Given the description of an element on the screen output the (x, y) to click on. 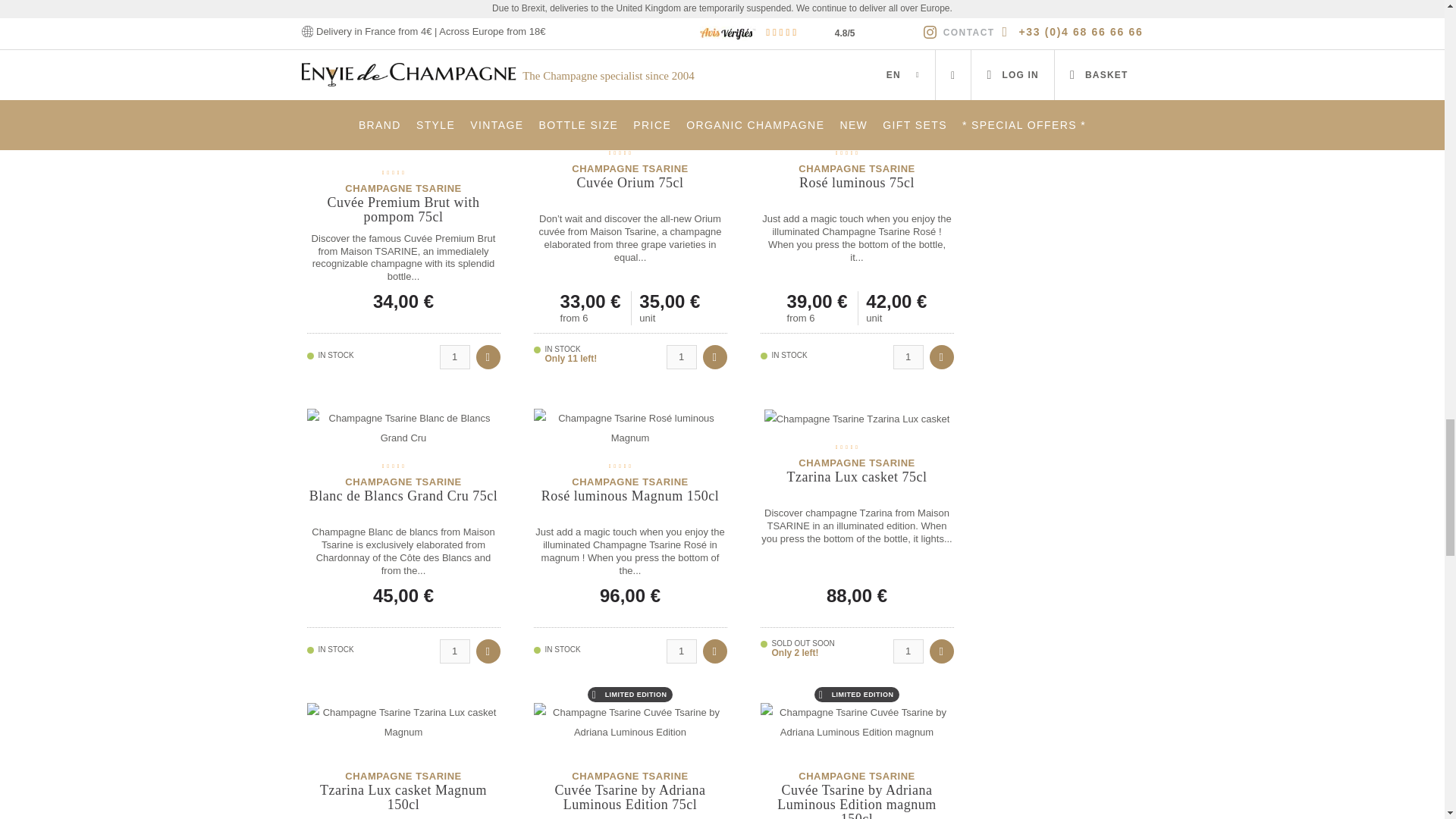
1 (908, 356)
1 (680, 356)
1 (680, 651)
1 (680, 63)
1 (908, 651)
1 (454, 651)
1 (454, 356)
1 (908, 63)
1 (454, 63)
